Given the description of an element on the screen output the (x, y) to click on. 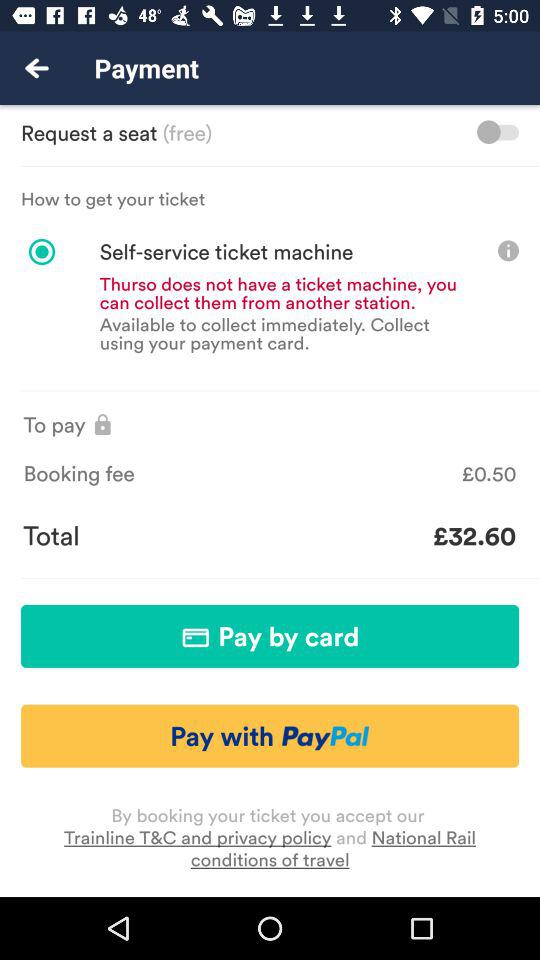
choose the item above the thurso does not (198, 251)
